Given the description of an element on the screen output the (x, y) to click on. 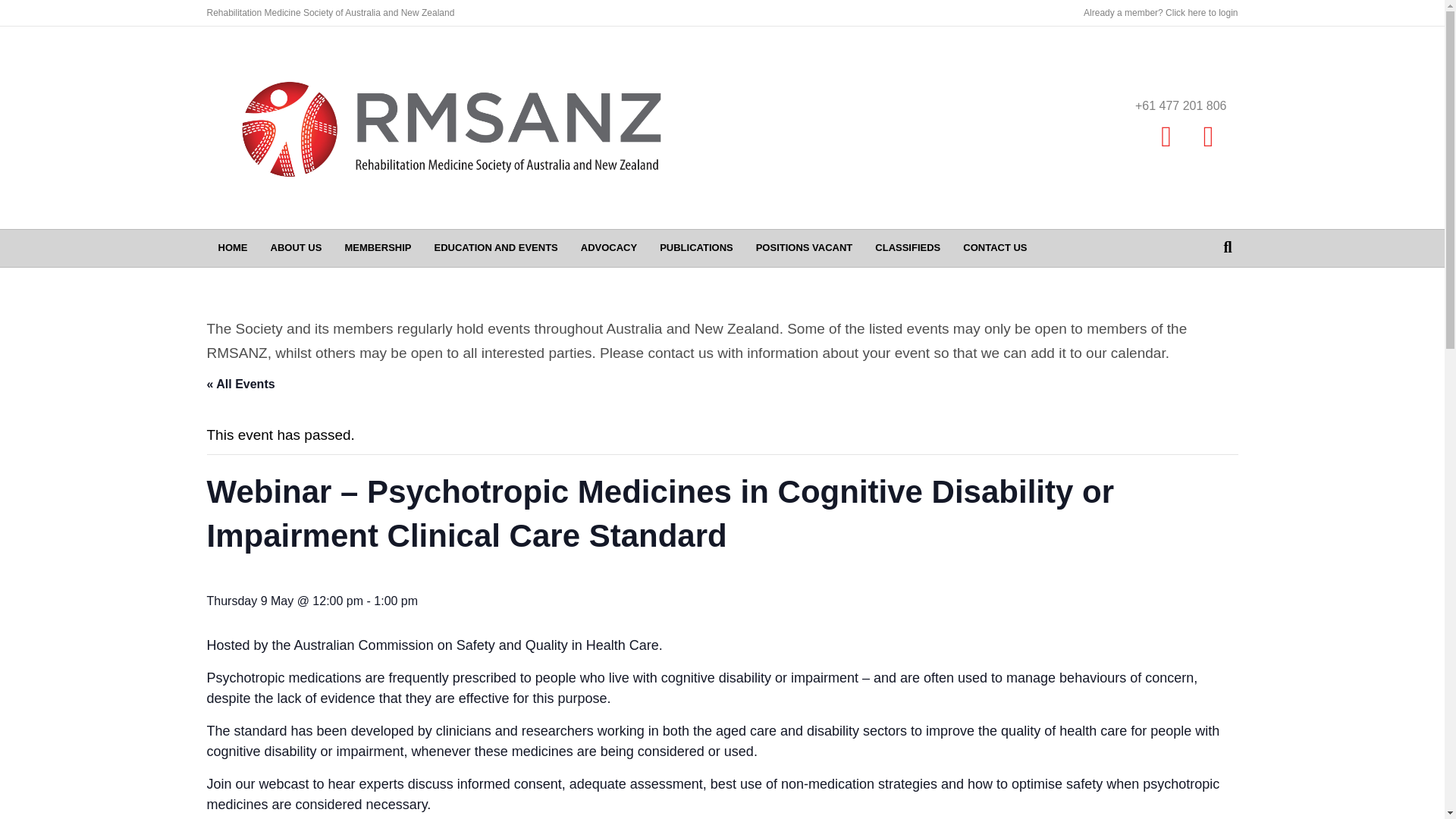
ABOUT US (296, 248)
CLASSIFIEDS (907, 248)
EDUCATION AND EVENTS (496, 248)
POSITIONS VACANT (804, 248)
Email (1209, 136)
MEMBERSHIP (377, 248)
ADVOCACY (608, 248)
HOME (232, 248)
Already a member? Click here to login (1160, 12)
CONTACT US (995, 248)
